Given the description of an element on the screen output the (x, y) to click on. 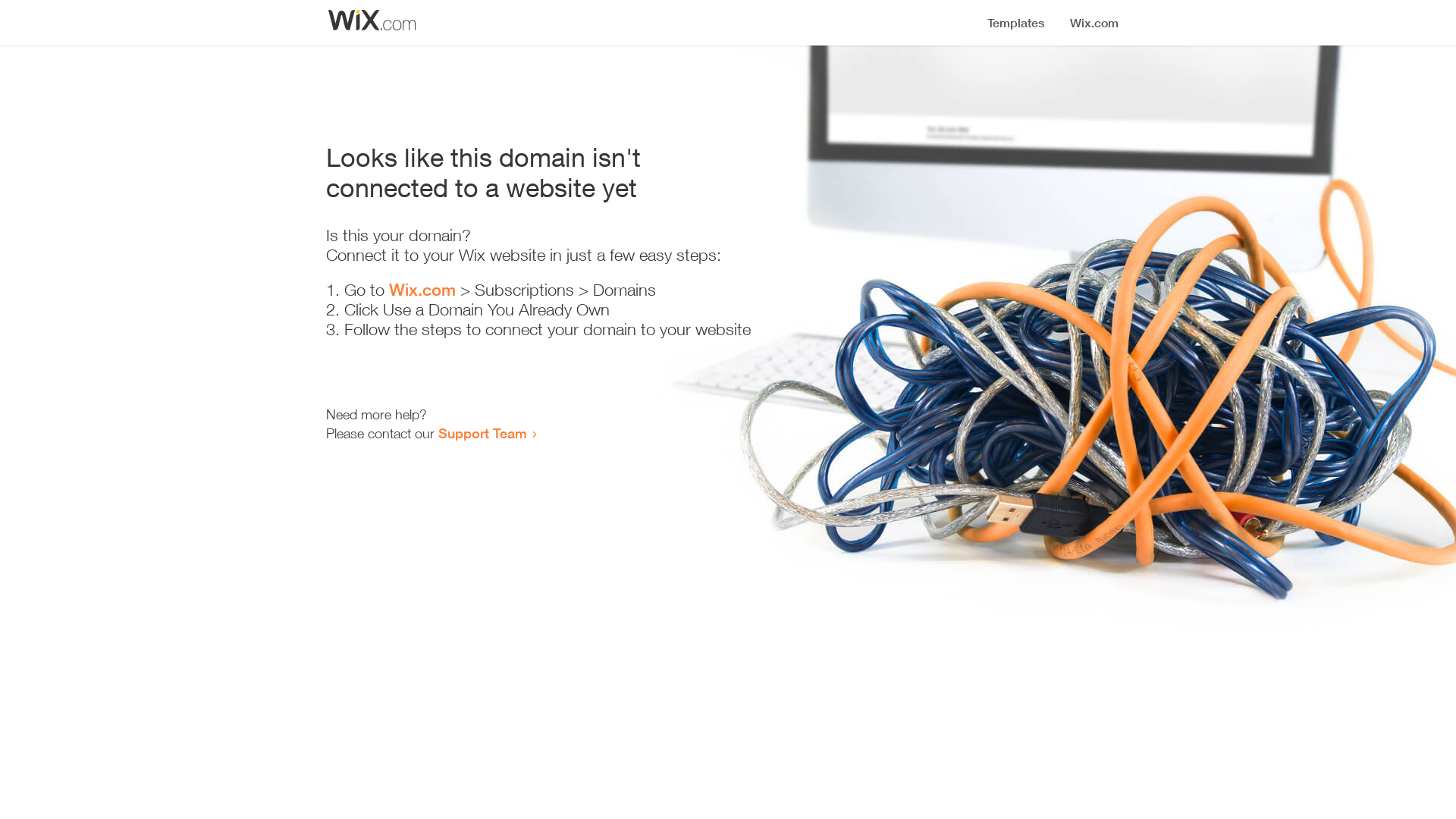
Wix.com Element type: text (422, 289)
Support Team Element type: text (482, 432)
